Given the description of an element on the screen output the (x, y) to click on. 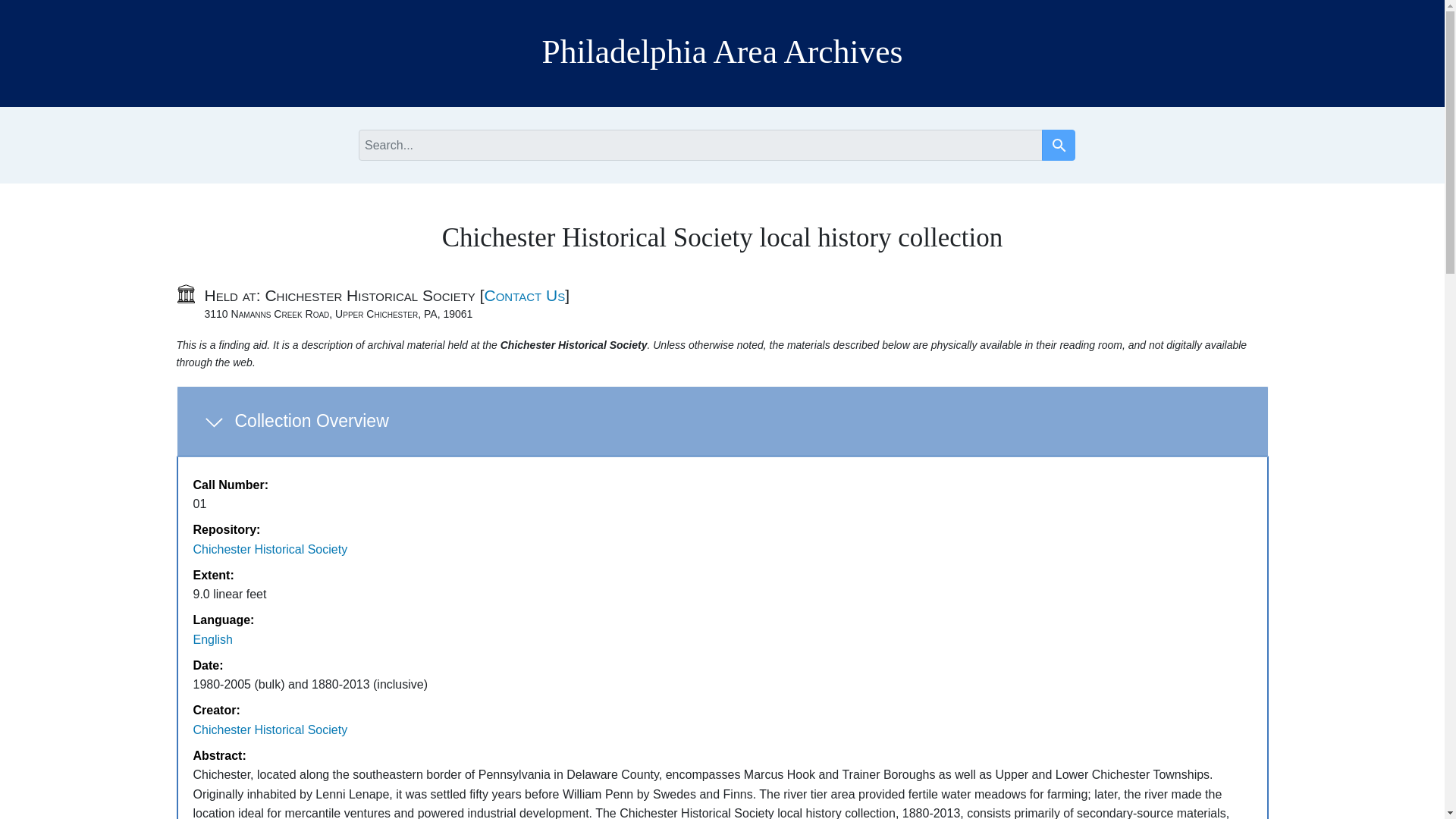
Chichester Historical Society (269, 549)
Collection Overview (722, 421)
Search (1058, 145)
Philadelphia Area Archives (721, 51)
English (211, 639)
Skip to search (33, 7)
Chichester Historical Society (1058, 144)
Contact Us (269, 729)
Skip to main content (525, 294)
